Given the description of an element on the screen output the (x, y) to click on. 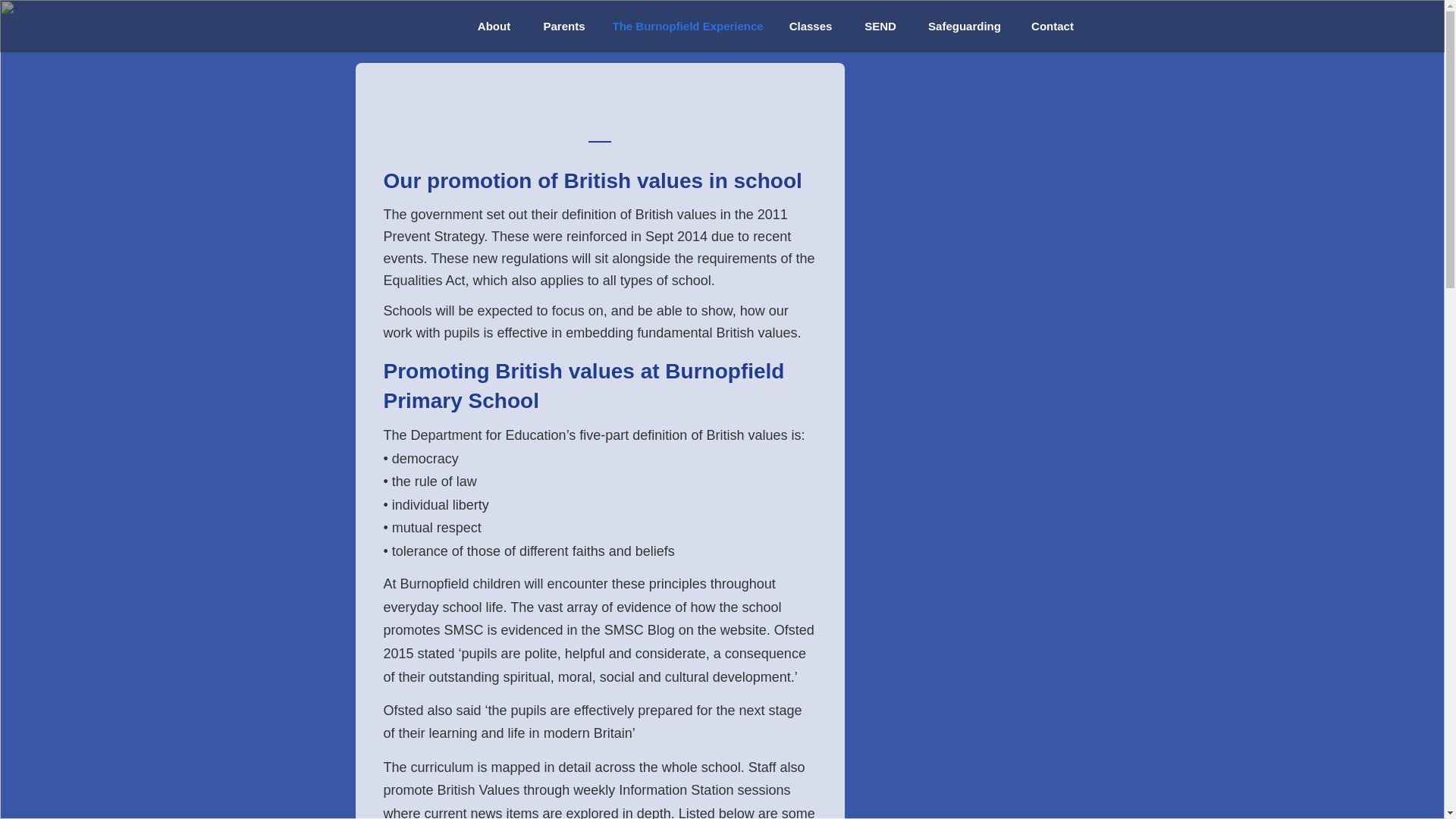
About (494, 25)
The Burnopfield Experience (686, 25)
Parents (564, 25)
